Given the description of an element on the screen output the (x, y) to click on. 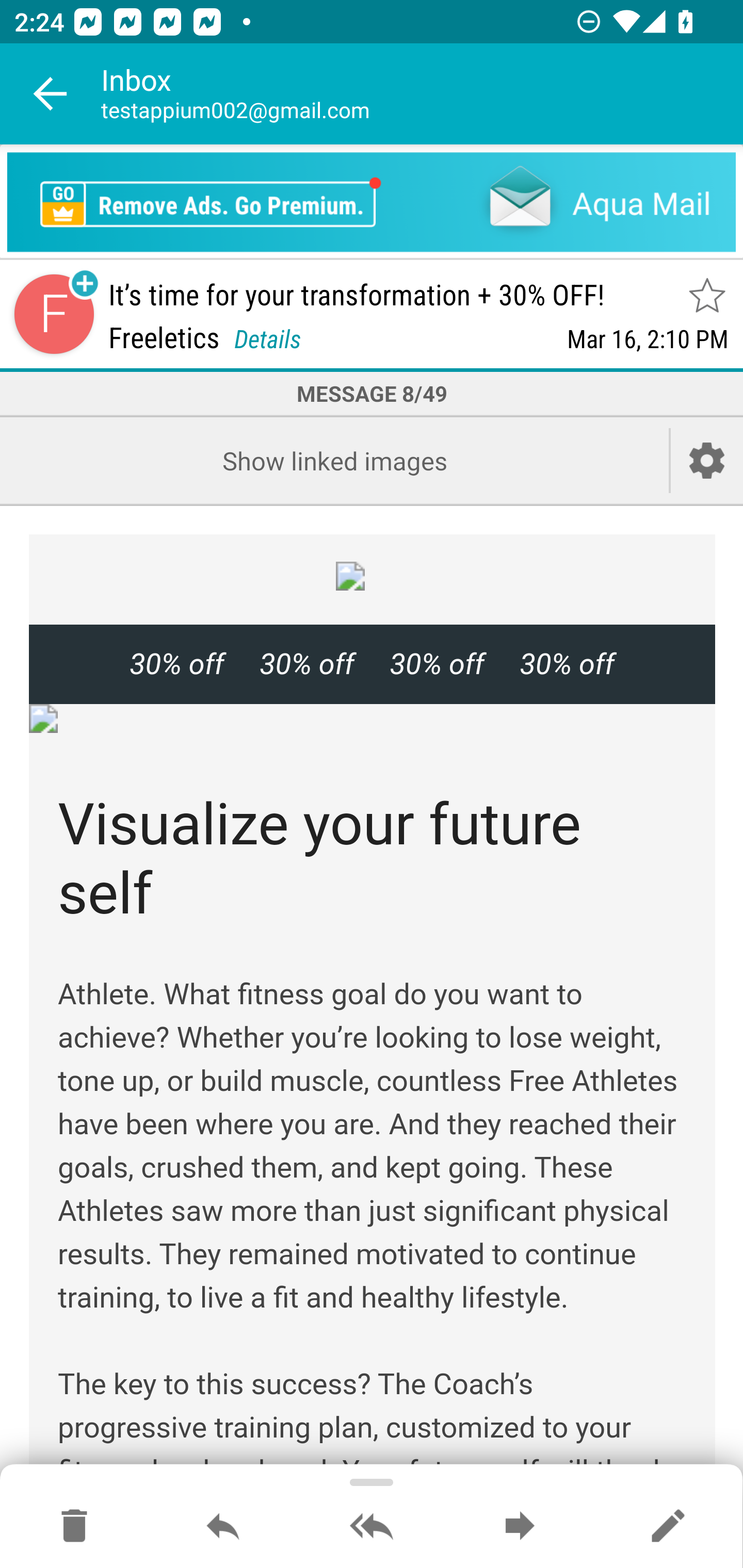
Navigate up (50, 93)
Inbox testappium002@gmail.com (422, 93)
Sender contact button (53, 314)
Show linked images (334, 460)
Account setup (706, 460)
data: (372, 575)
30% off     30% off     30% off     30% off (371, 664)
data: (372, 718)
Move to Deleted (74, 1527)
Reply (222, 1527)
Reply all (371, 1527)
Forward (519, 1527)
Reply as new (667, 1527)
